Given the description of an element on the screen output the (x, y) to click on. 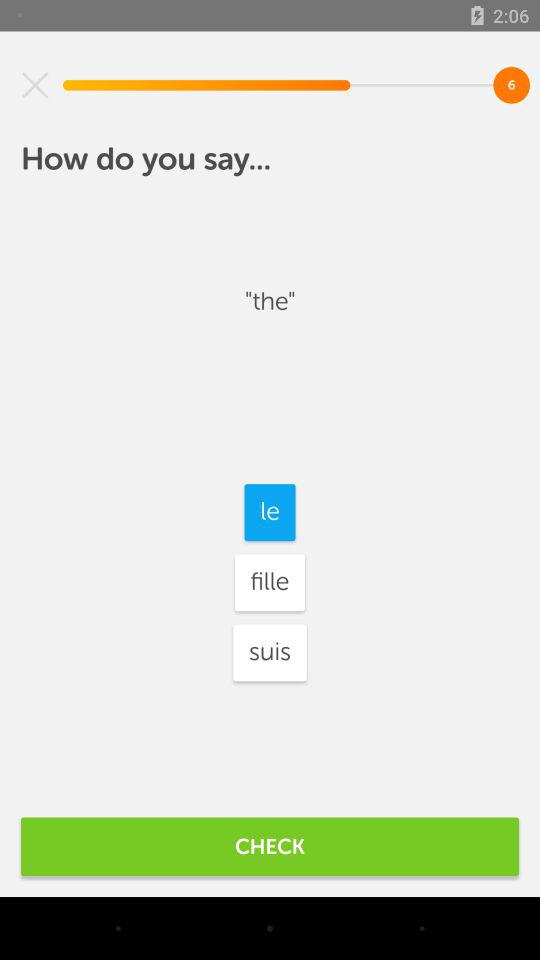
flip until the le (269, 512)
